Given the description of an element on the screen output the (x, y) to click on. 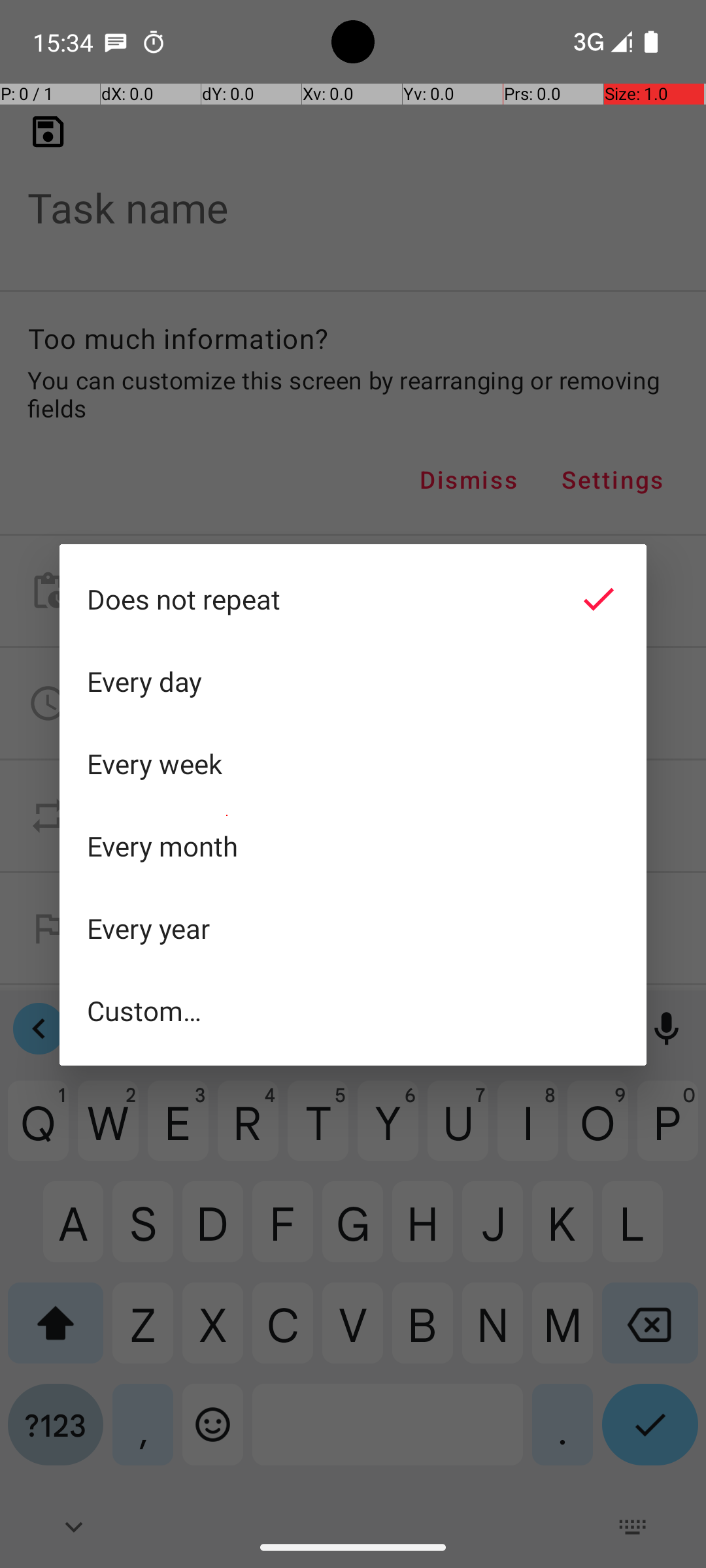
Every day Element type: android.widget.CheckedTextView (352, 681)
Every week Element type: android.widget.CheckedTextView (352, 763)
Every month Element type: android.widget.CheckedTextView (352, 845)
Every year Element type: android.widget.CheckedTextView (352, 928)
